Given the description of an element on the screen output the (x, y) to click on. 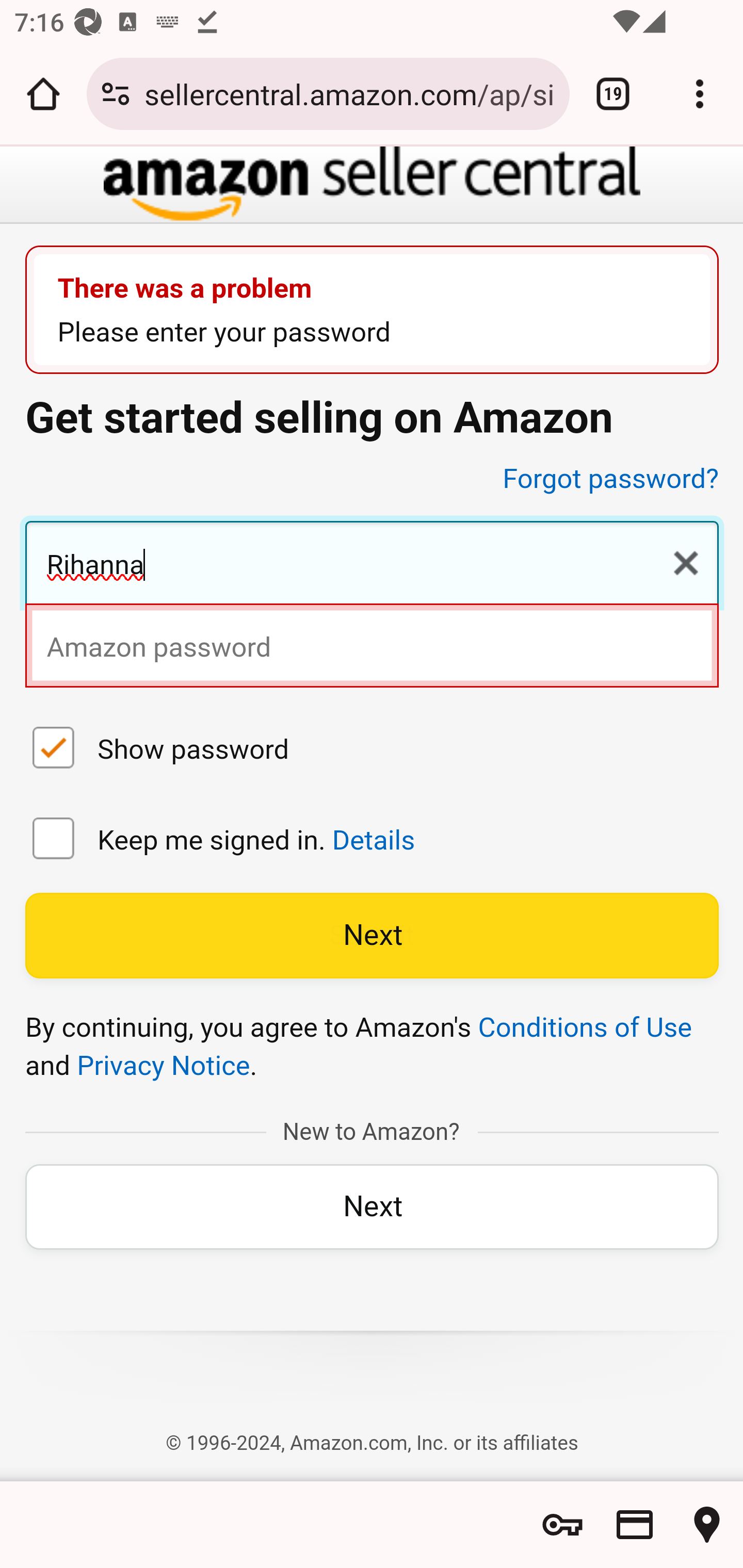
Open the home page (43, 93)
Connection is secure (115, 93)
Switch or close tabs (612, 93)
Customize and control Google Chrome (699, 93)
Forgot password? (610, 478)
Rihanna (371, 565)
Show password (53, 750)
Keep me signed in. Details (53, 841)
Details (372, 840)
Next (371, 935)
Conditions of Use (585, 1027)
Privacy Notice (163, 1065)
Next (371, 1206)
Show saved passwords and password options (562, 1524)
Show saved payment methods (634, 1524)
Show saved addresses (706, 1524)
